Given the description of an element on the screen output the (x, y) to click on. 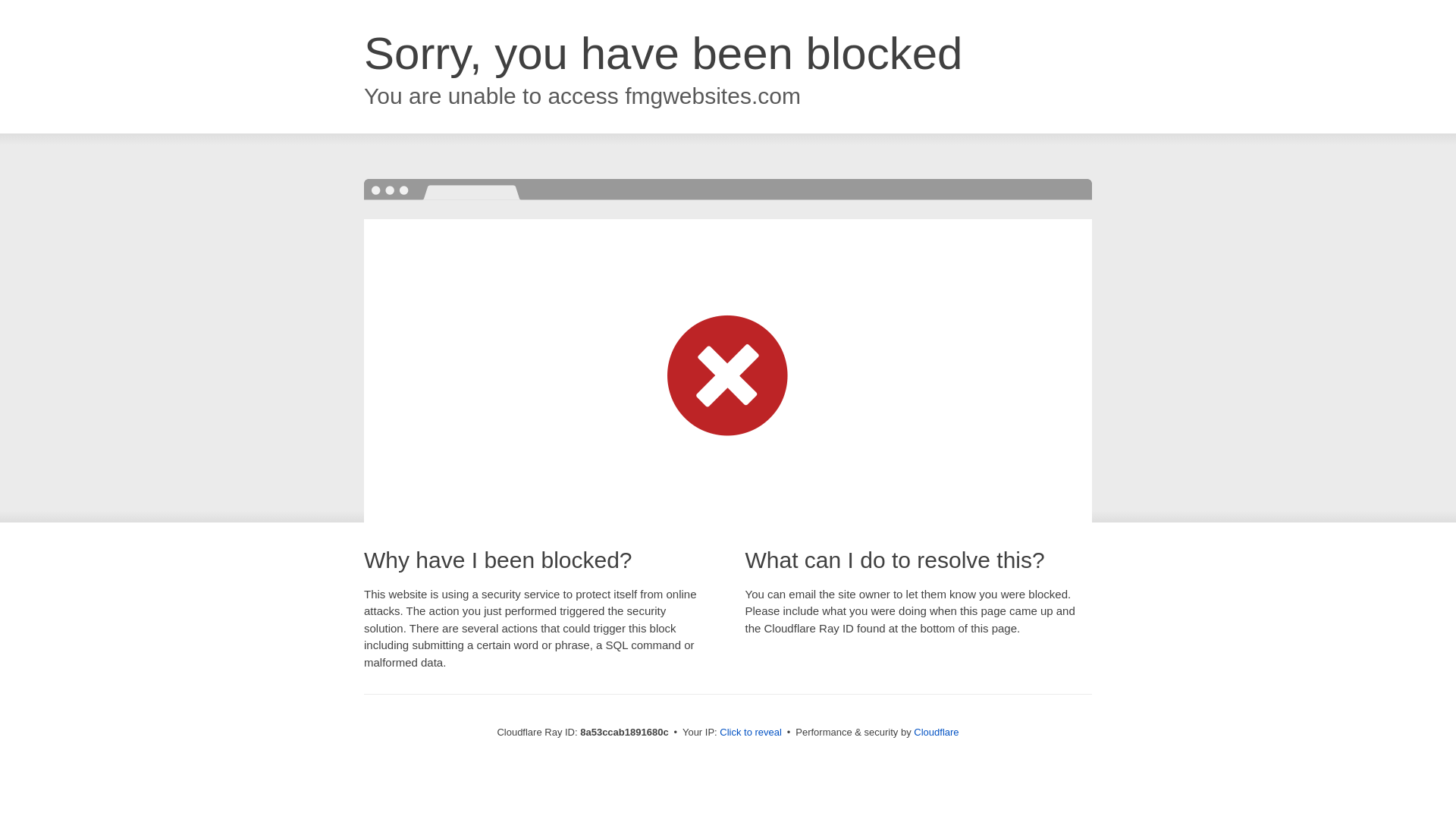
Cloudflare (936, 731)
Click to reveal (750, 732)
